Given the description of an element on the screen output the (x, y) to click on. 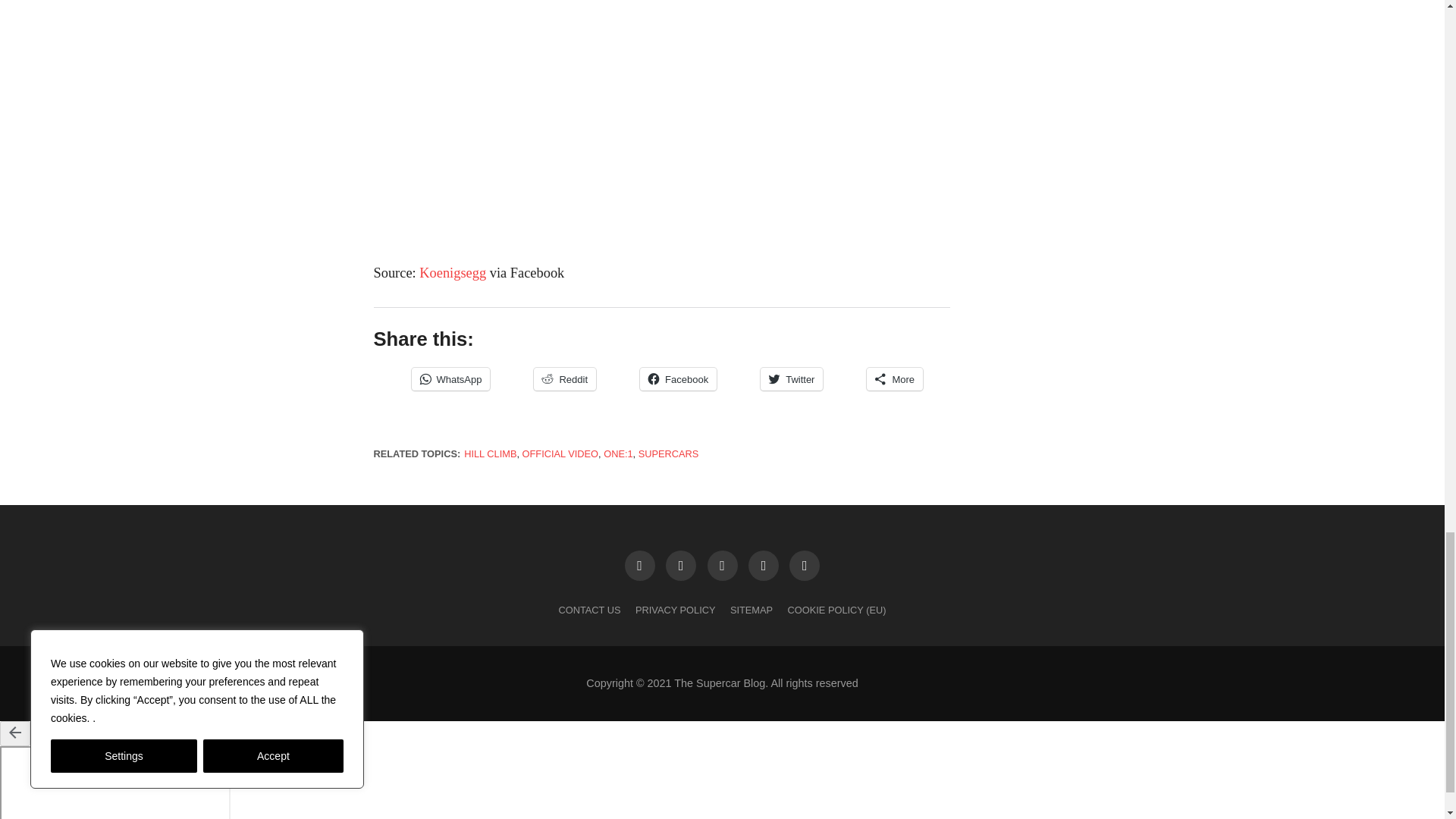
Koenigsegg (452, 272)
WhatsApp (449, 378)
Click to share on Facebook (678, 378)
Click to share on WhatsApp (449, 378)
Click to share on Reddit (564, 378)
Reddit (564, 378)
Click to share on Twitter (791, 378)
Facebook (678, 378)
